Given the description of an element on the screen output the (x, y) to click on. 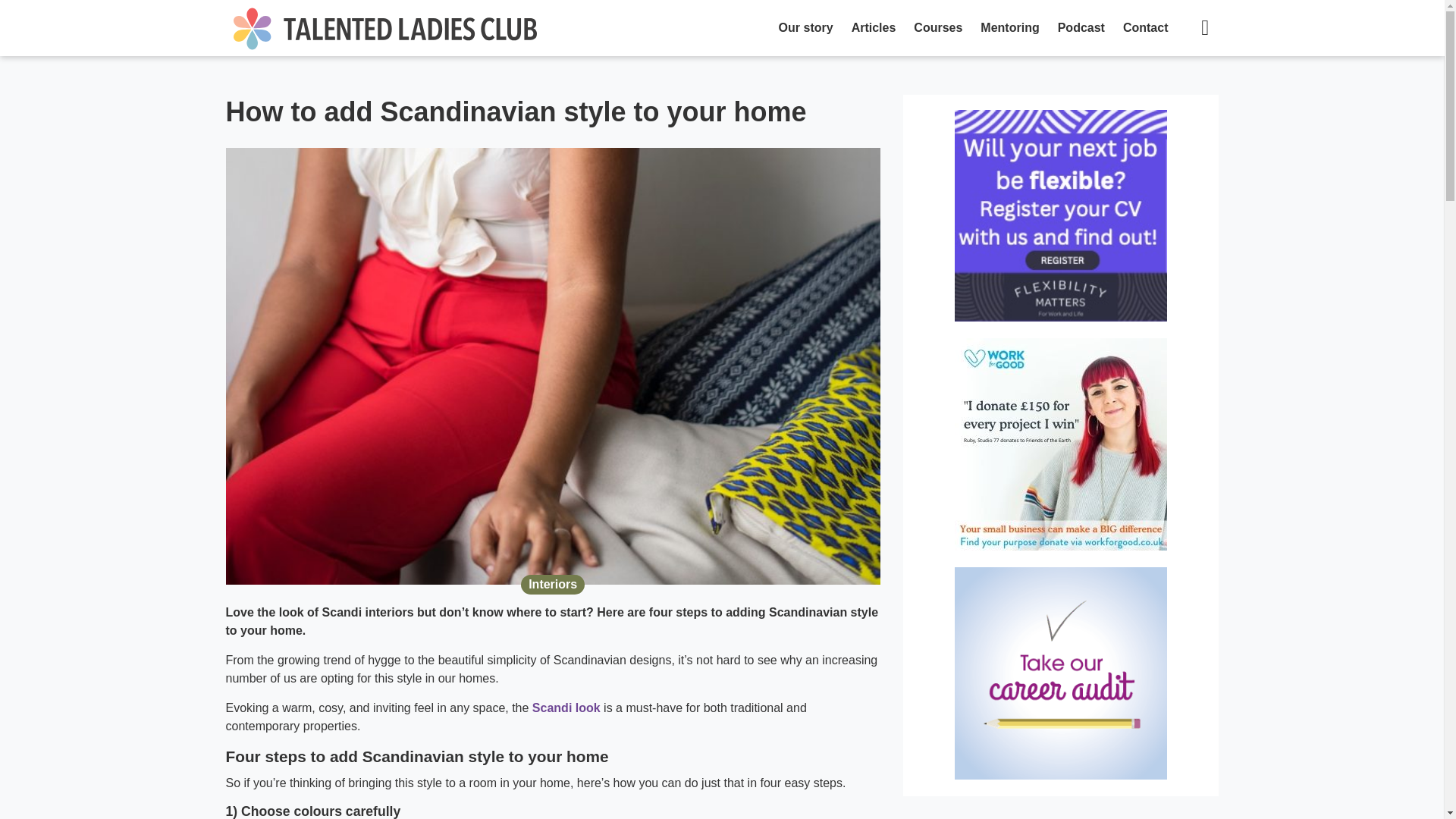
Articles (874, 28)
Mentoring (1009, 28)
Contact (1145, 28)
Courses (937, 28)
Our story (806, 28)
Podcast (1080, 28)
